Given the description of an element on the screen output the (x, y) to click on. 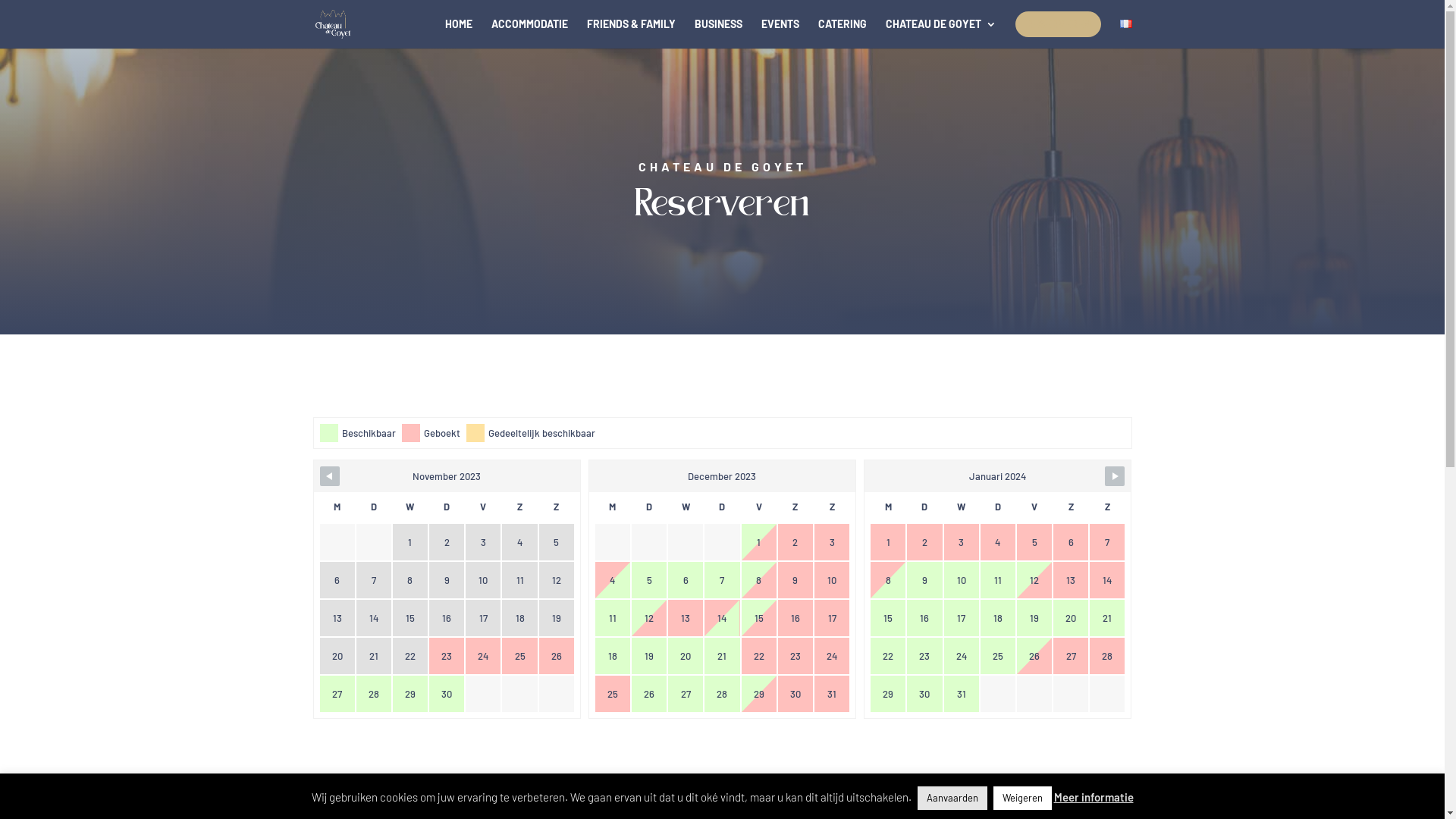
BUSINESS Element type: text (718, 33)
EVENTS Element type: text (780, 33)
Aanvaarden Element type: text (952, 797)
Weigeren Element type: text (1022, 797)
Meer informatie Element type: text (1093, 796)
RESERVEREN Element type: text (1057, 24)
CATERING Element type: text (841, 33)
FRIENDS & FAMILY Element type: text (630, 33)
CHATEAU DE GOYET Element type: text (940, 33)
ACCOMMODATIE Element type: text (529, 33)
HOME Element type: text (457, 33)
